Given the description of an element on the screen output the (x, y) to click on. 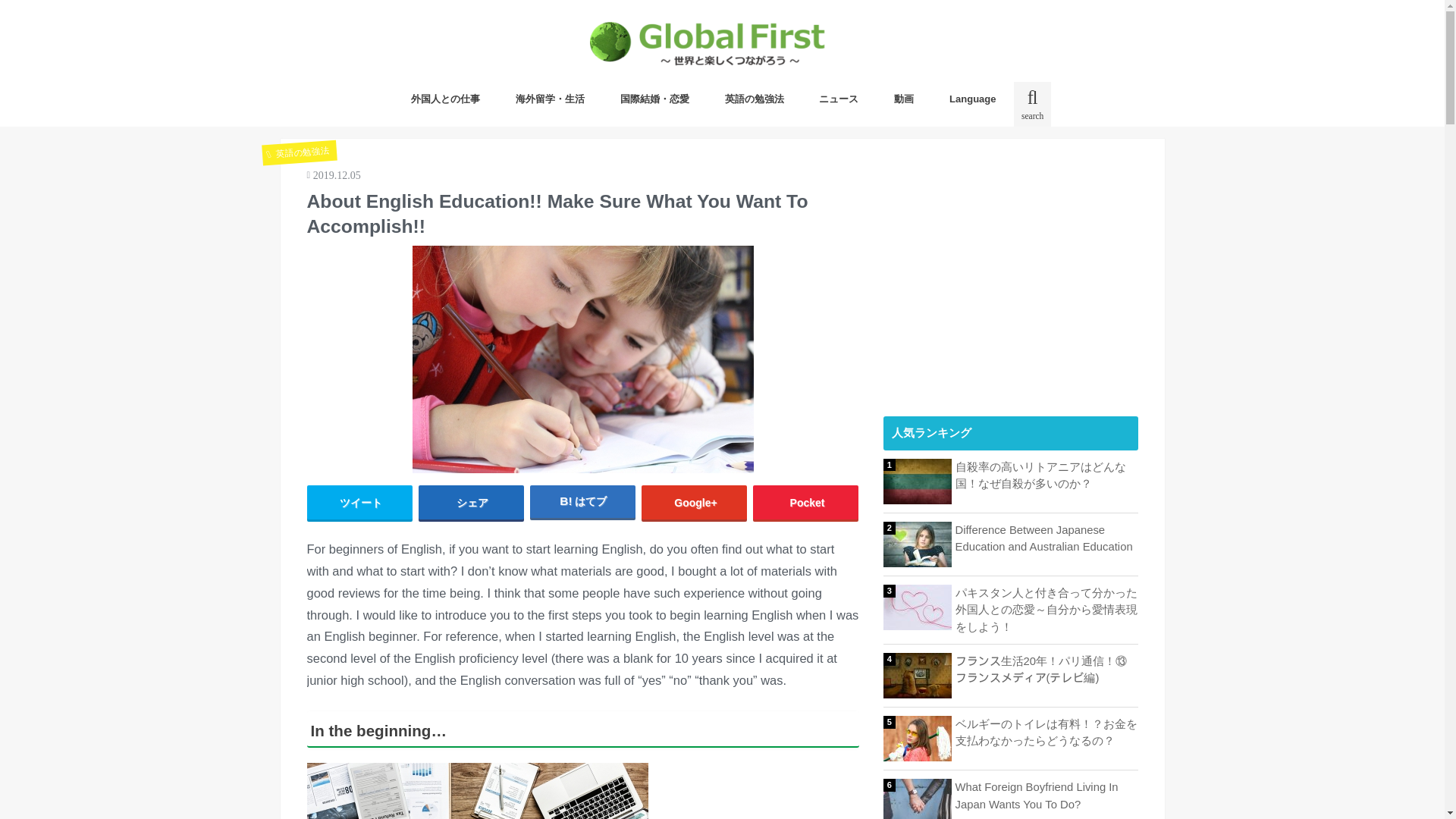
Pocket (805, 502)
Language (972, 98)
